Given the description of an element on the screen output the (x, y) to click on. 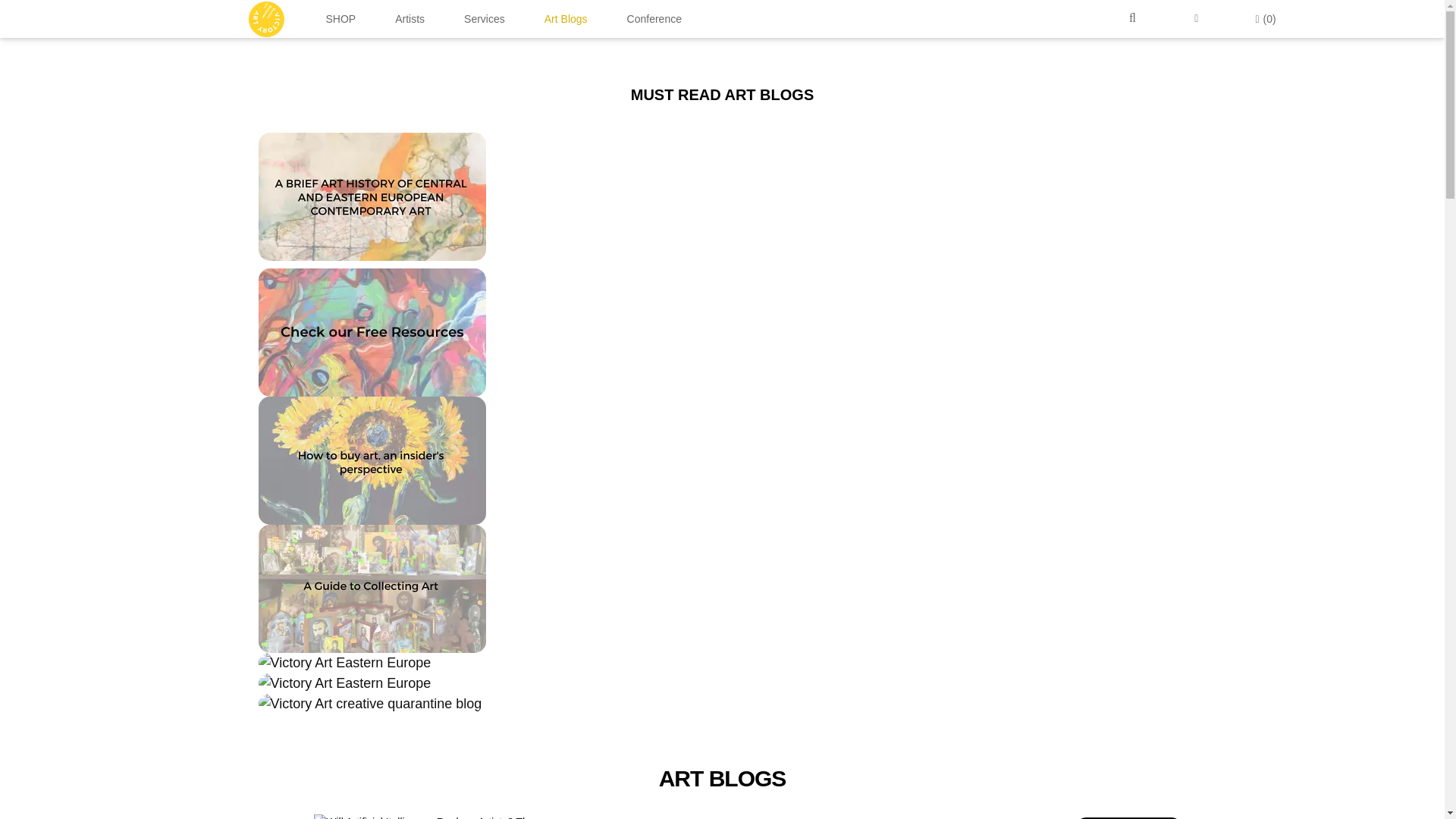
Search (1134, 18)
Search (1134, 18)
Fun (1128, 818)
